Given the description of an element on the screen output the (x, y) to click on. 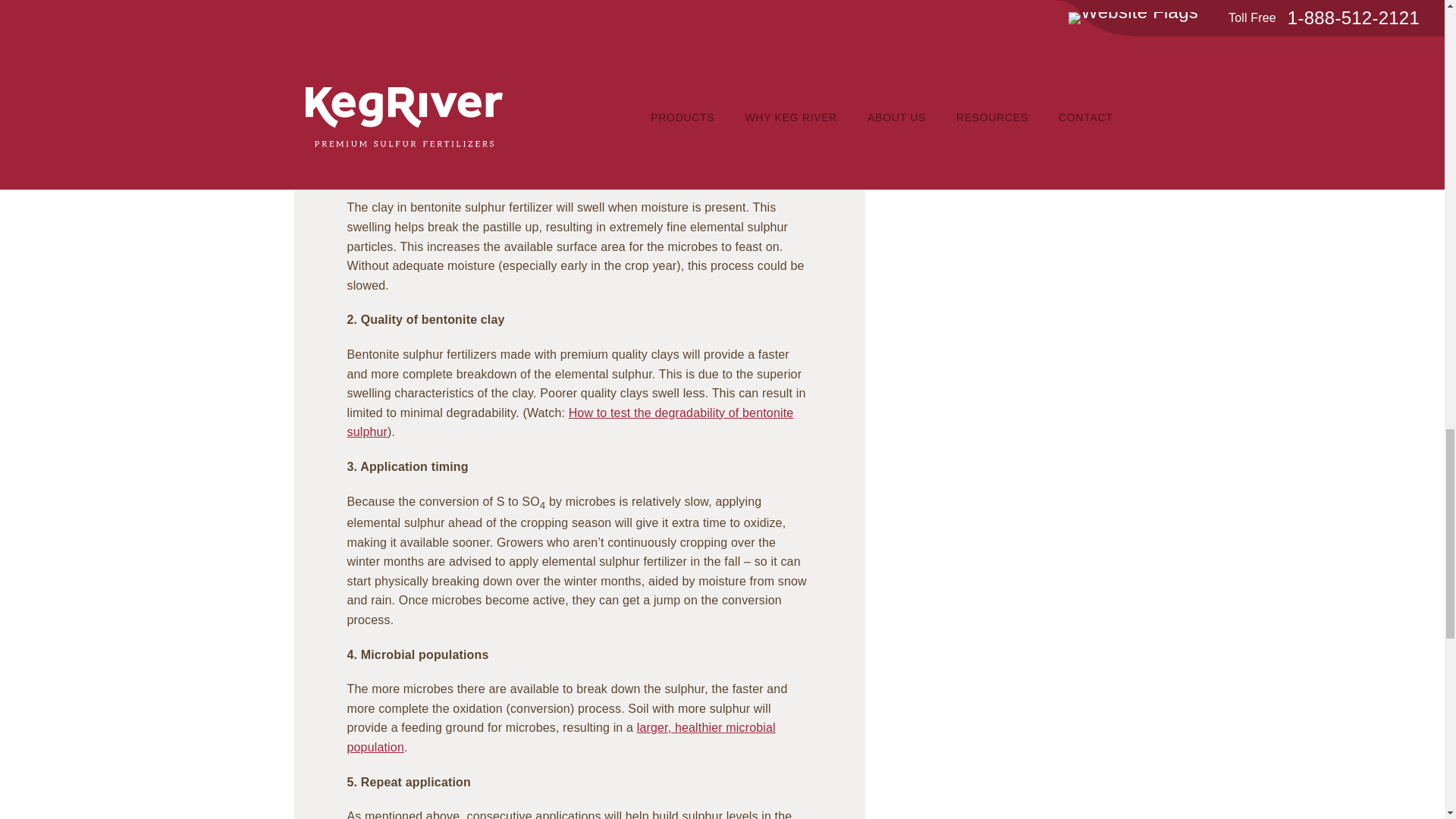
larger, healthier microbial population (561, 737)
How to test the degradability of bentonite sulphur (570, 422)
replace the need for AMS (416, 39)
